Given the description of an element on the screen output the (x, y) to click on. 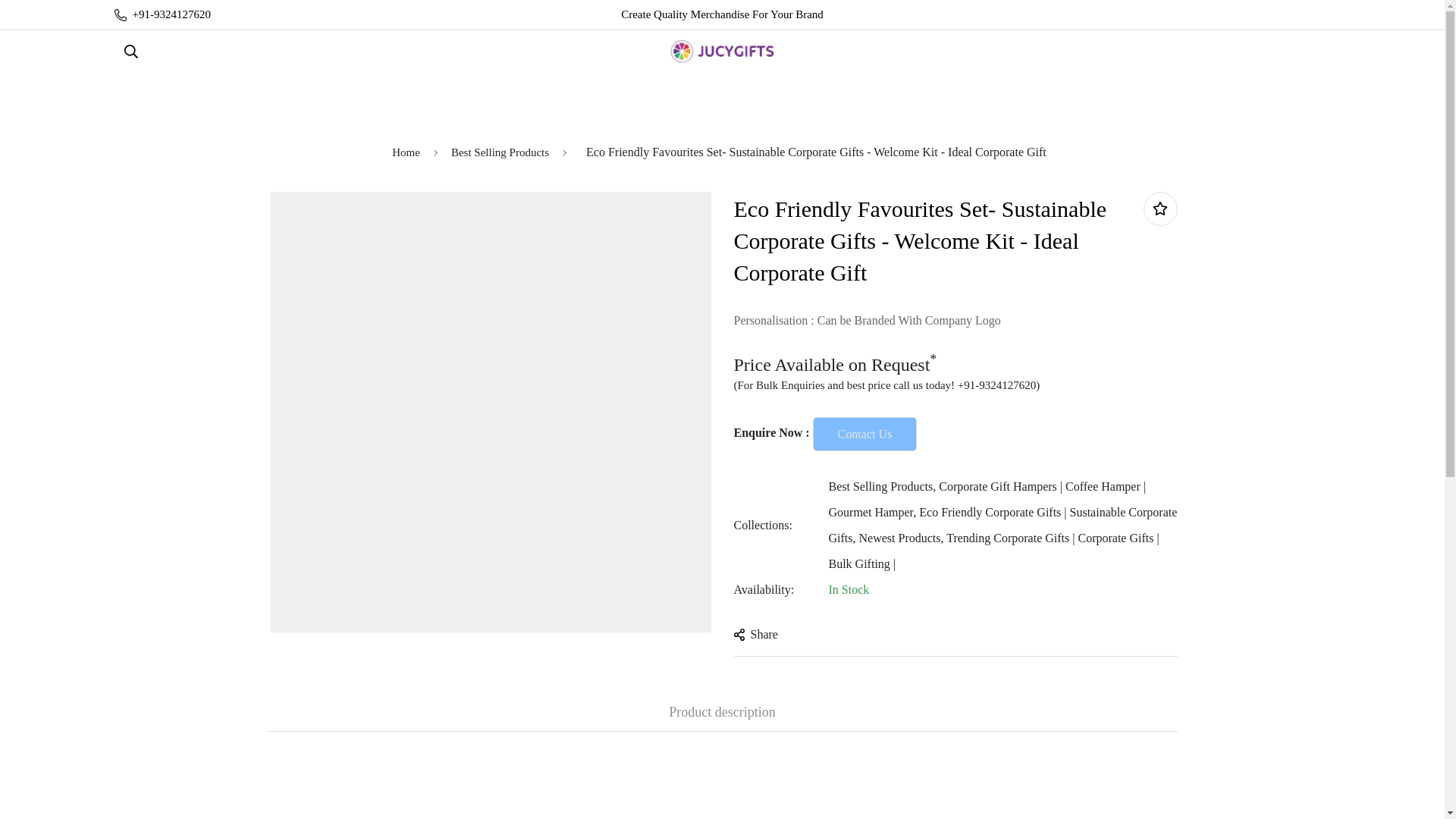
Back to the home page (406, 152)
JucyGifts (721, 51)
